Given the description of an element on the screen output the (x, y) to click on. 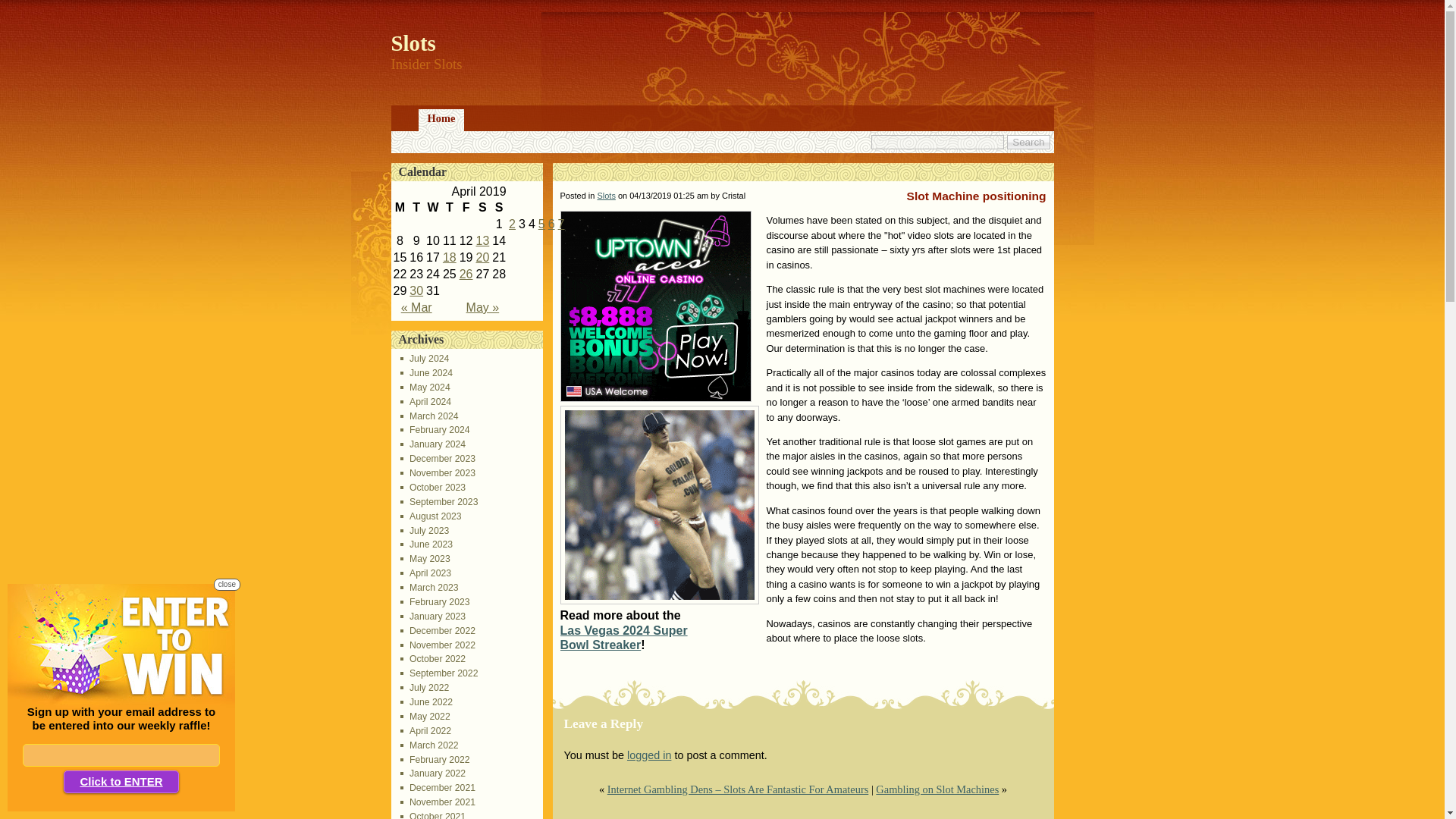
January 2024 (432, 443)
December 2023 (438, 458)
March 2024 (429, 416)
Playing The Slots Online (541, 223)
18 (449, 256)
Search (1028, 142)
Slot Tournament Winners Secrets (511, 223)
5 (541, 223)
Saturday (481, 207)
6 (551, 223)
Home (441, 119)
April 2024 (425, 401)
May 2024 (424, 387)
February 2024 (435, 429)
June 2023 (426, 543)
